Given the description of an element on the screen output the (x, y) to click on. 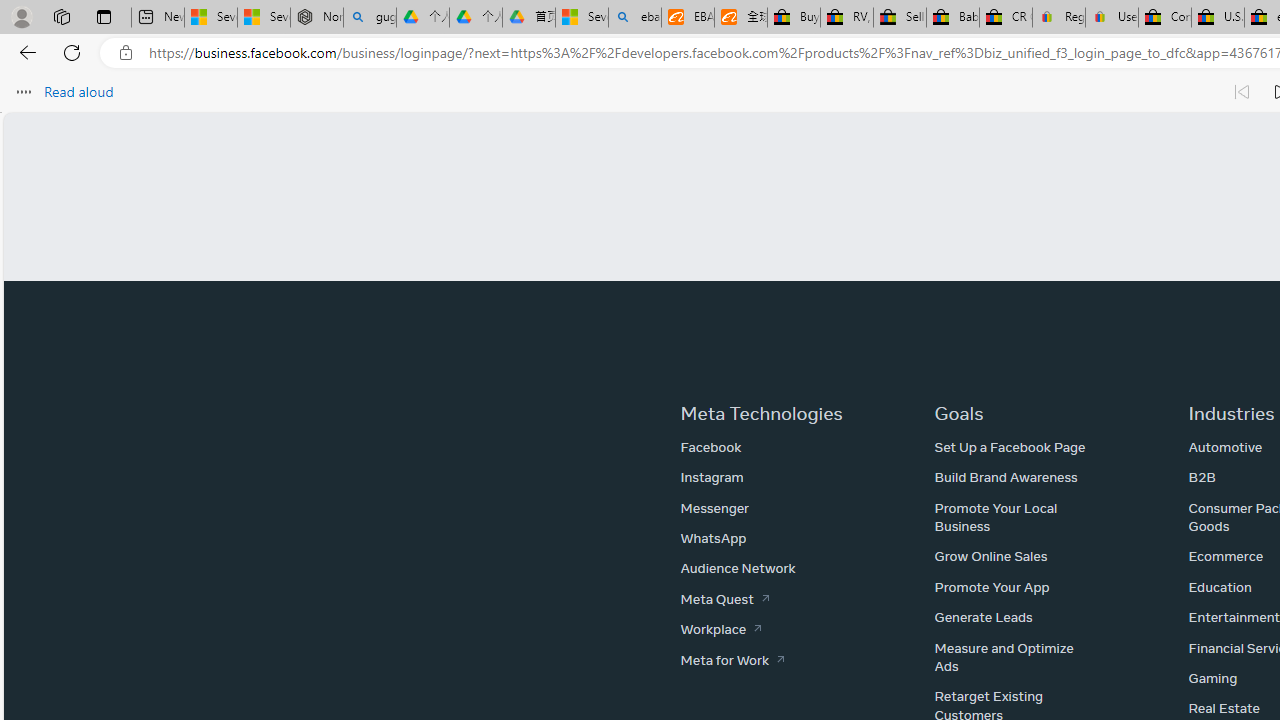
Instagram (711, 477)
Promote Your Local Business (996, 516)
Register: Create a personal eBay account (1059, 17)
B2B (1201, 477)
guge yunpan - Search (369, 17)
Meta for Work (731, 659)
Build Brand Awareness (1005, 477)
Consumer Health Data Privacy Policy - eBay Inc. (1165, 17)
Workplace (720, 628)
Buy Auto Parts & Accessories | eBay (794, 17)
Grow Online Sales (991, 556)
U.S. State Privacy Disclosures - eBay Inc. (1217, 17)
